Given the description of an element on the screen output the (x, y) to click on. 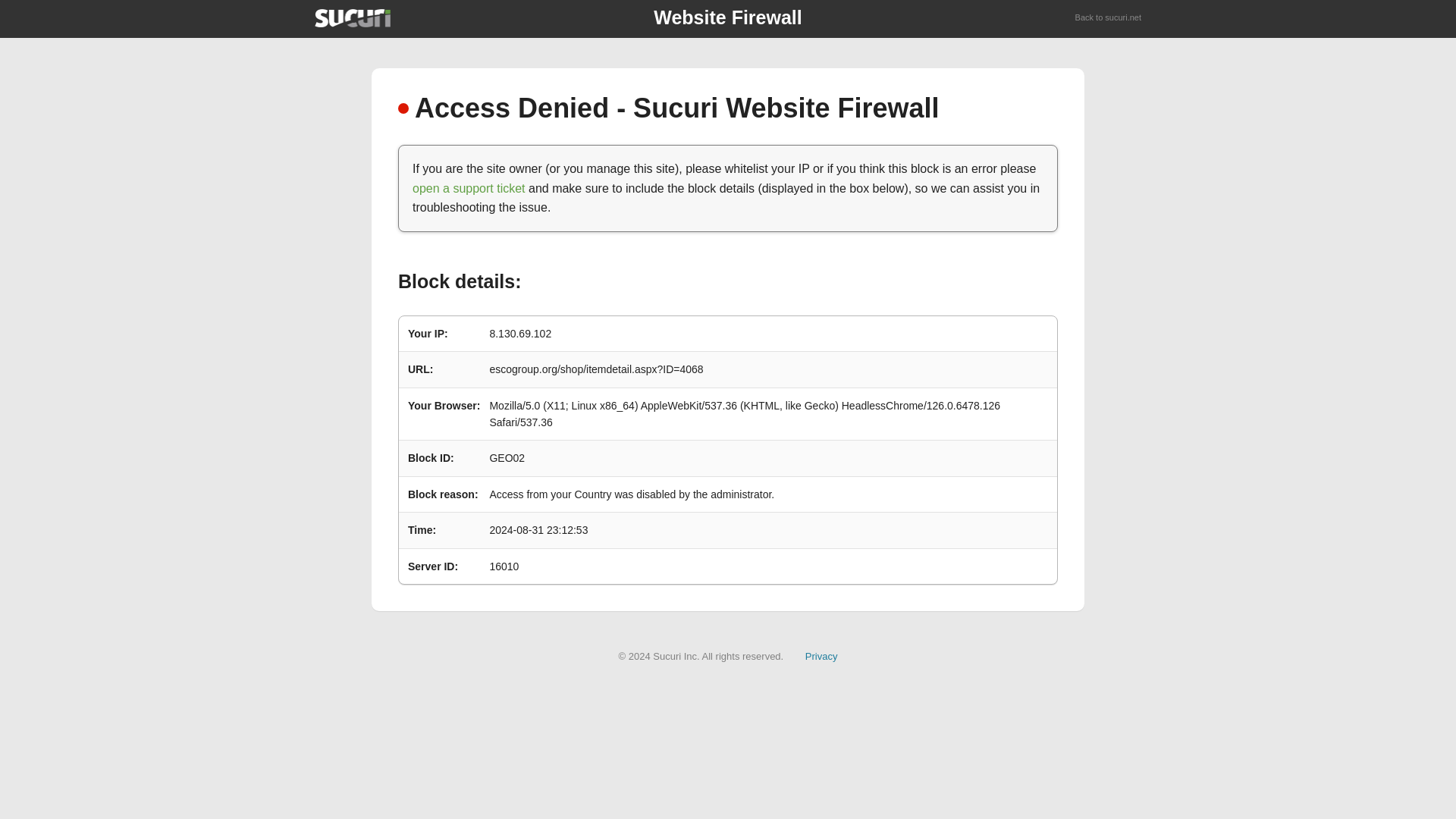
Back to sucuri.net (1108, 18)
Privacy (821, 655)
open a support ticket (468, 187)
